Given the description of an element on the screen output the (x, y) to click on. 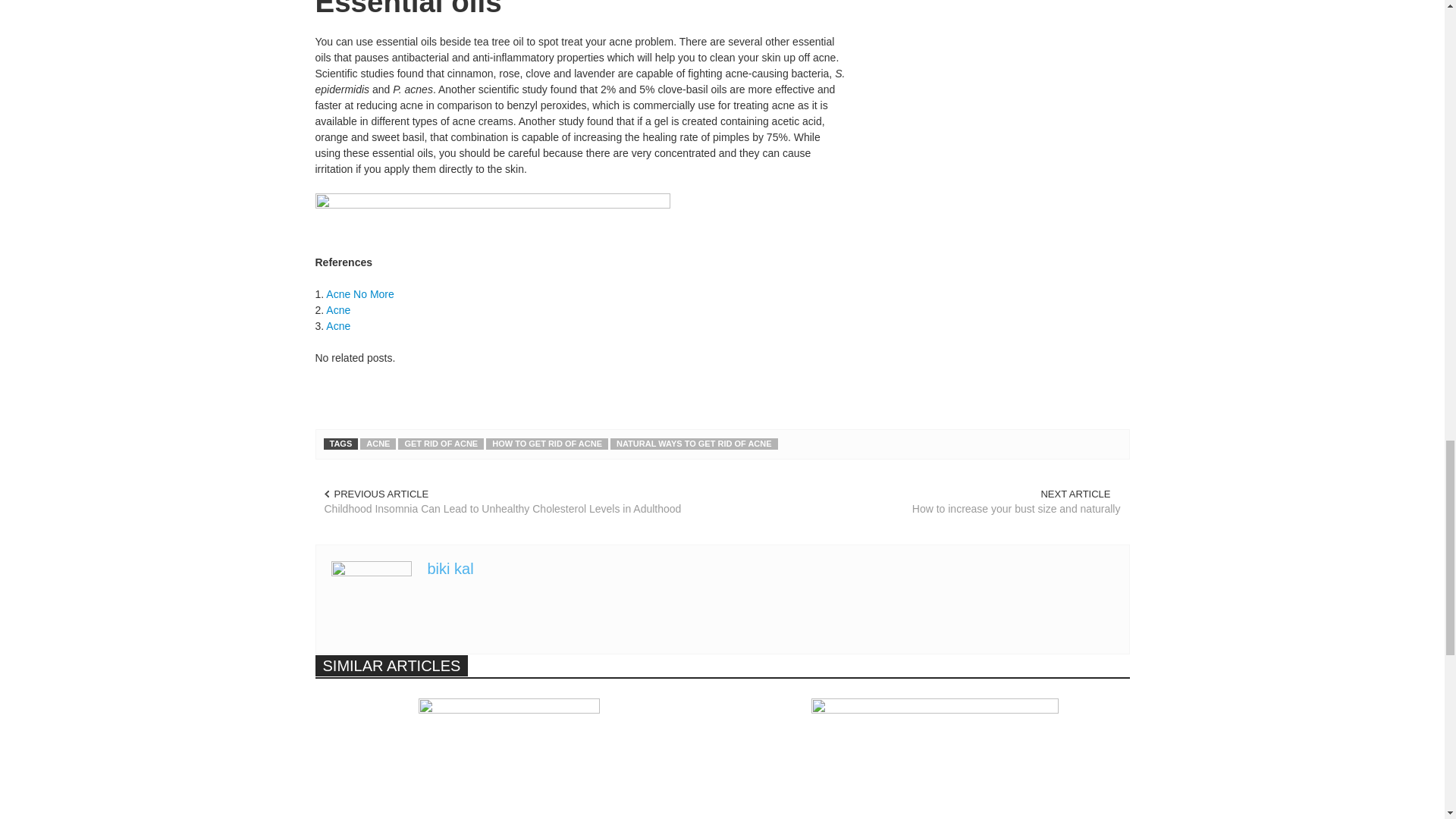
Acne treatment options (509, 758)
Avoid these foods to avoid acne (934, 758)
Avoid these foods to avoid acne (934, 758)
Acne treatment options (509, 758)
